Given the description of an element on the screen output the (x, y) to click on. 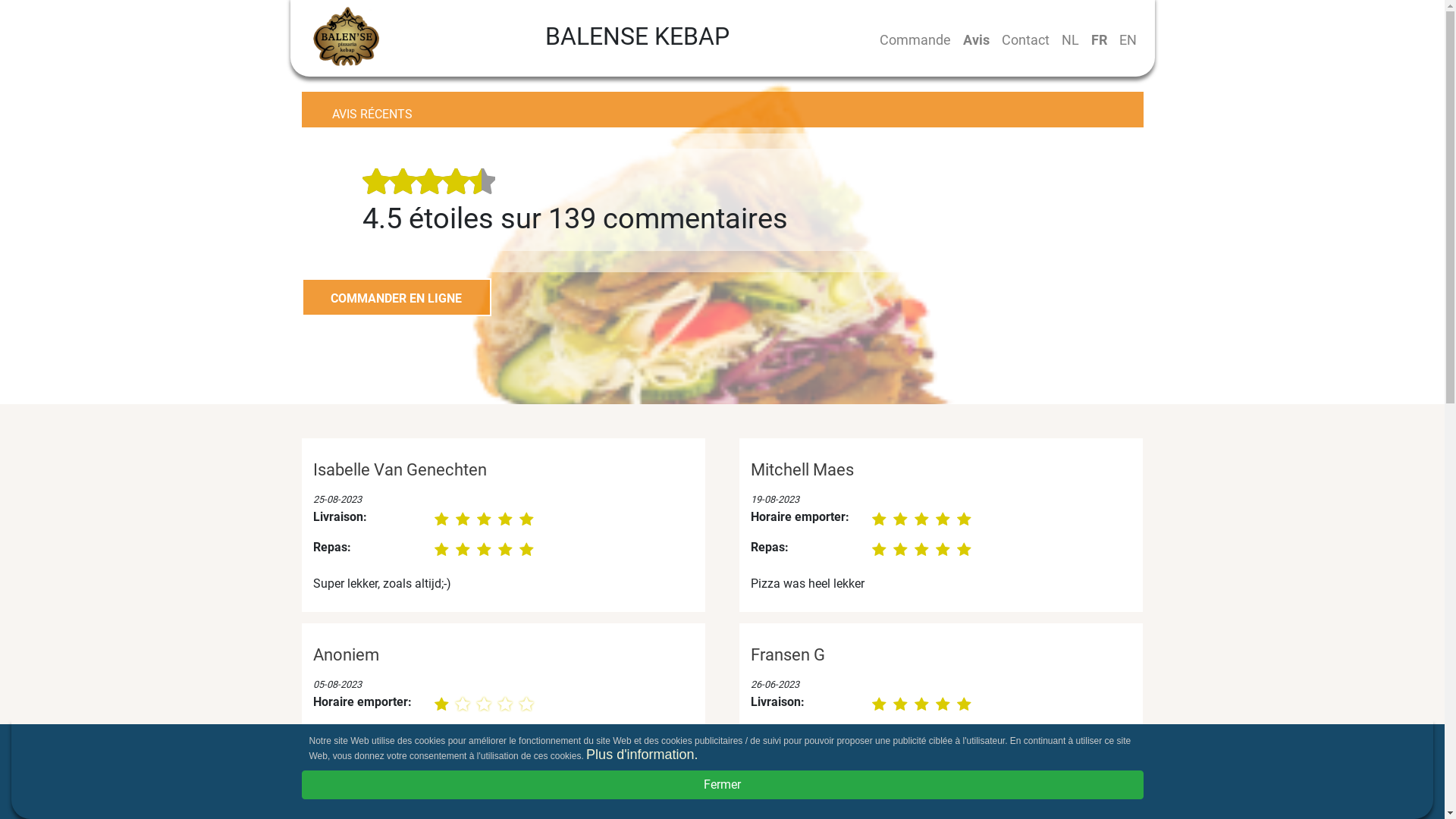
Plus d'information. Element type: text (642, 754)
NL Element type: text (1070, 39)
EN Element type: text (1127, 39)
Fermer Element type: text (722, 784)
FR Element type: text (1098, 39)
Avis Element type: text (976, 39)
Commande Element type: text (915, 39)
COMMANDER EN LIGNE Element type: text (396, 297)
Contact Element type: text (1024, 39)
